Given the description of an element on the screen output the (x, y) to click on. 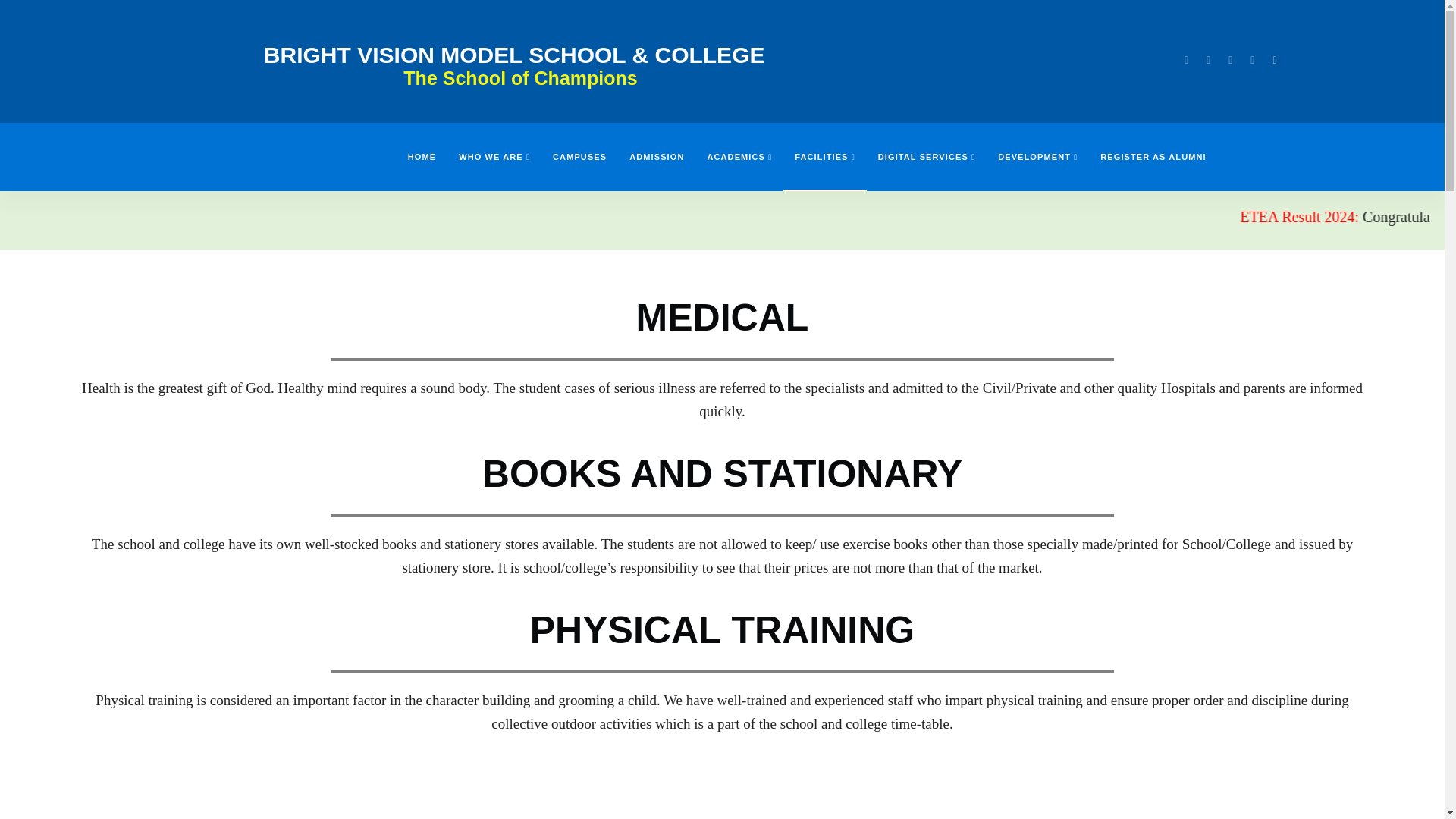
WHO WE ARE (493, 156)
Who We Are (493, 156)
CAMPUSES (579, 156)
Academics (739, 156)
Campuses (579, 156)
FACILITIES (824, 156)
ACADEMICS (739, 156)
DIGITAL SERVICES (926, 156)
ADMISSION (656, 156)
Admission (656, 156)
